Given the description of an element on the screen output the (x, y) to click on. 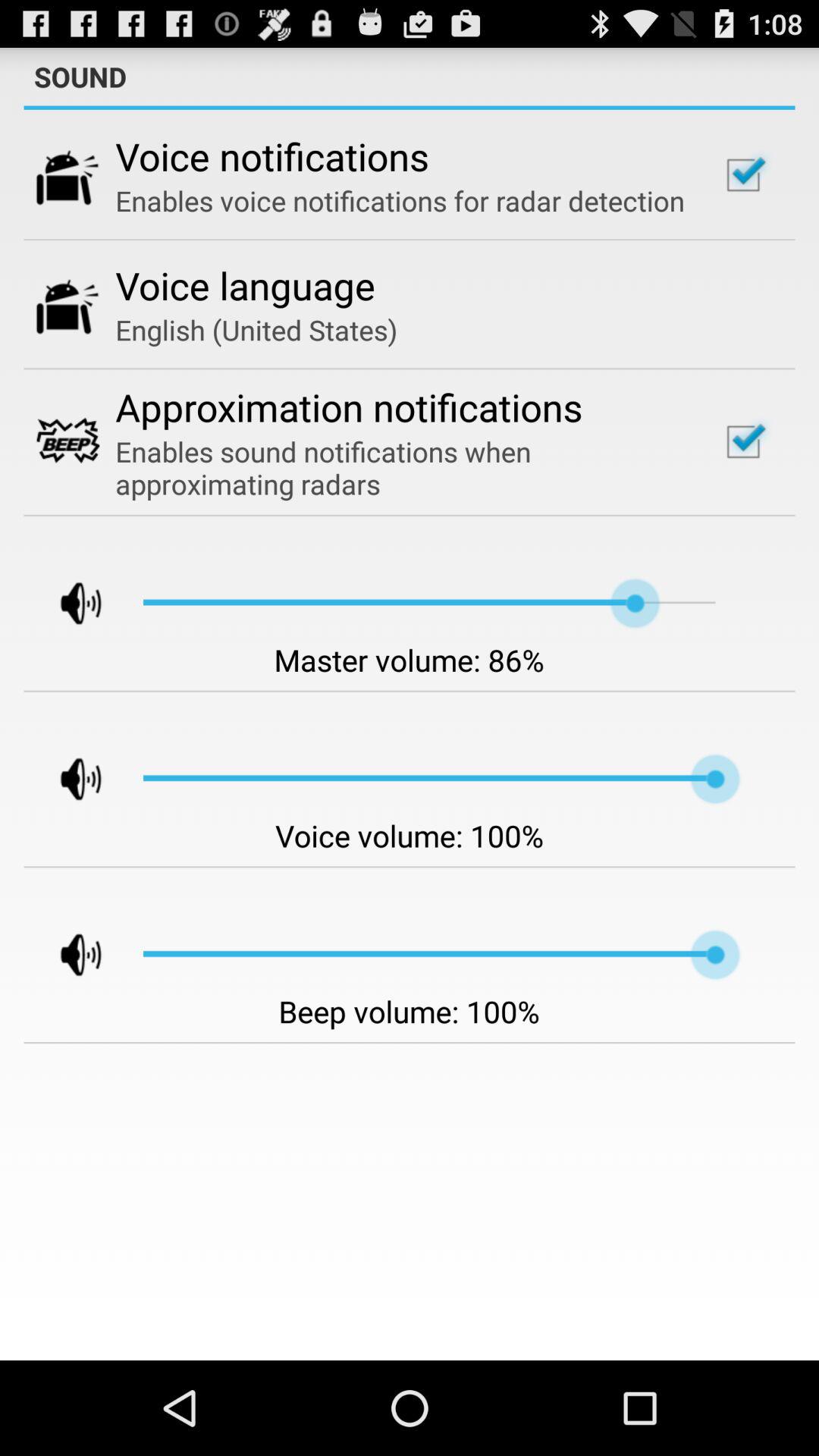
launch the english (united states) (256, 329)
